Given the description of an element on the screen output the (x, y) to click on. 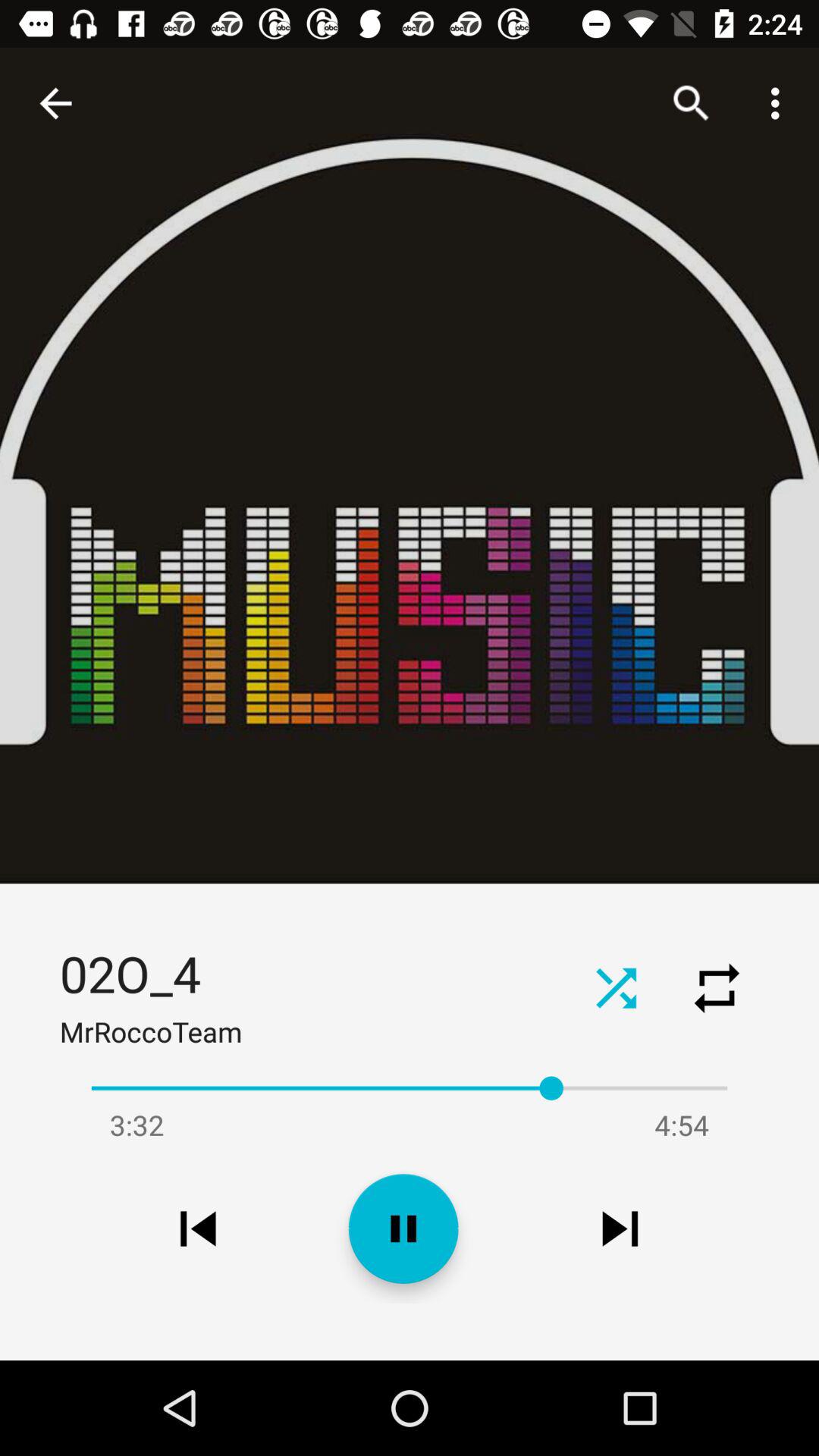
select icon at the top left corner (55, 103)
